Given the description of an element on the screen output the (x, y) to click on. 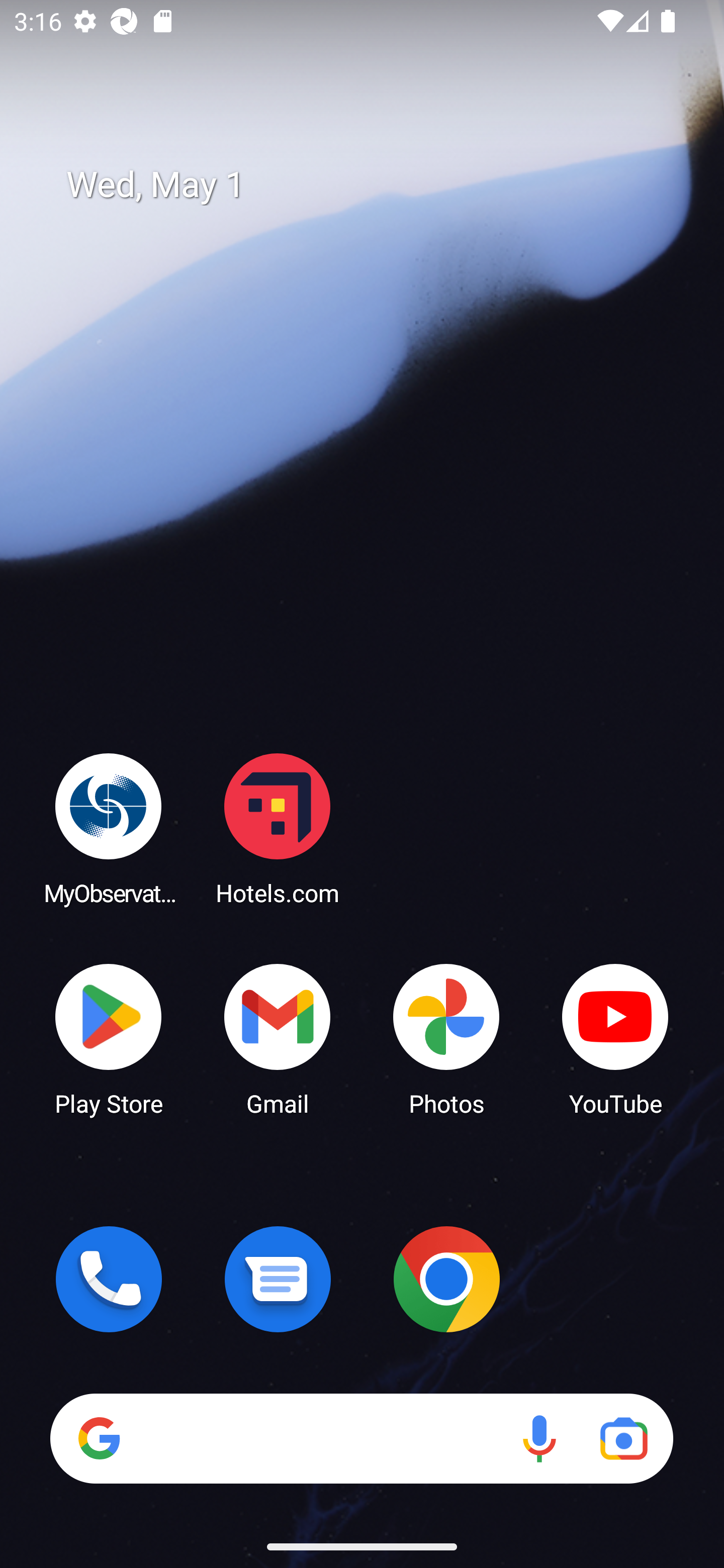
Wed, May 1 (375, 184)
MyObservatory (108, 828)
Hotels.com (277, 828)
Play Store (108, 1038)
Gmail (277, 1038)
Photos (445, 1038)
YouTube (615, 1038)
Phone (108, 1279)
Messages (277, 1279)
Chrome (446, 1279)
Search Voice search Google Lens (361, 1438)
Voice search (539, 1438)
Google Lens (623, 1438)
